Given the description of an element on the screen output the (x, y) to click on. 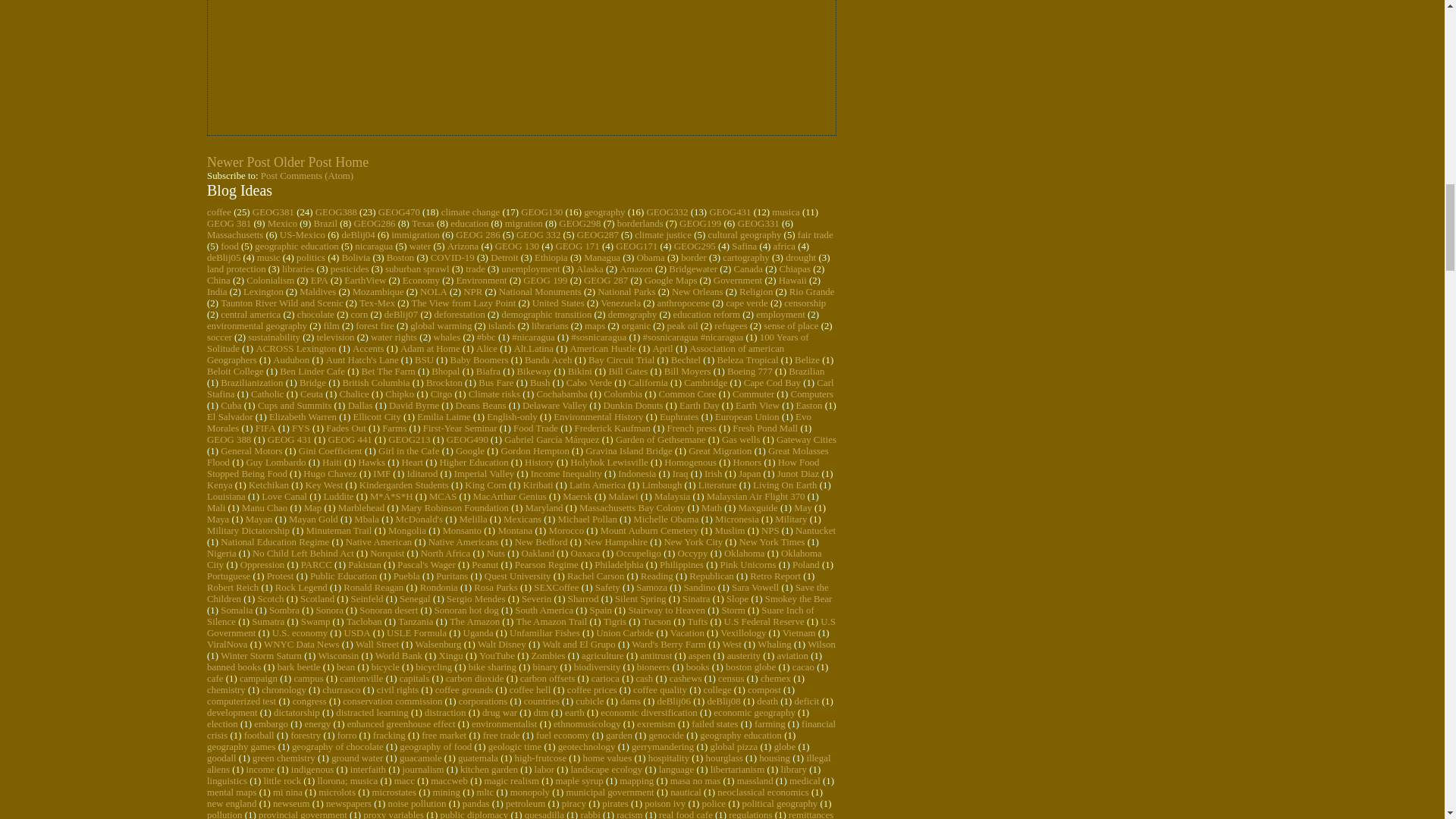
GEOG286 (373, 223)
GEOG470 (399, 212)
GEOG388 (335, 212)
geography (603, 212)
GEOG 381 (228, 223)
Mexico (282, 223)
Texas (422, 223)
Home (351, 161)
Brazil (325, 223)
coffee (218, 212)
Newer Post (238, 161)
Older Post (302, 161)
Older Post (302, 161)
GEOG332 (666, 212)
climate change (470, 212)
